Given the description of an element on the screen output the (x, y) to click on. 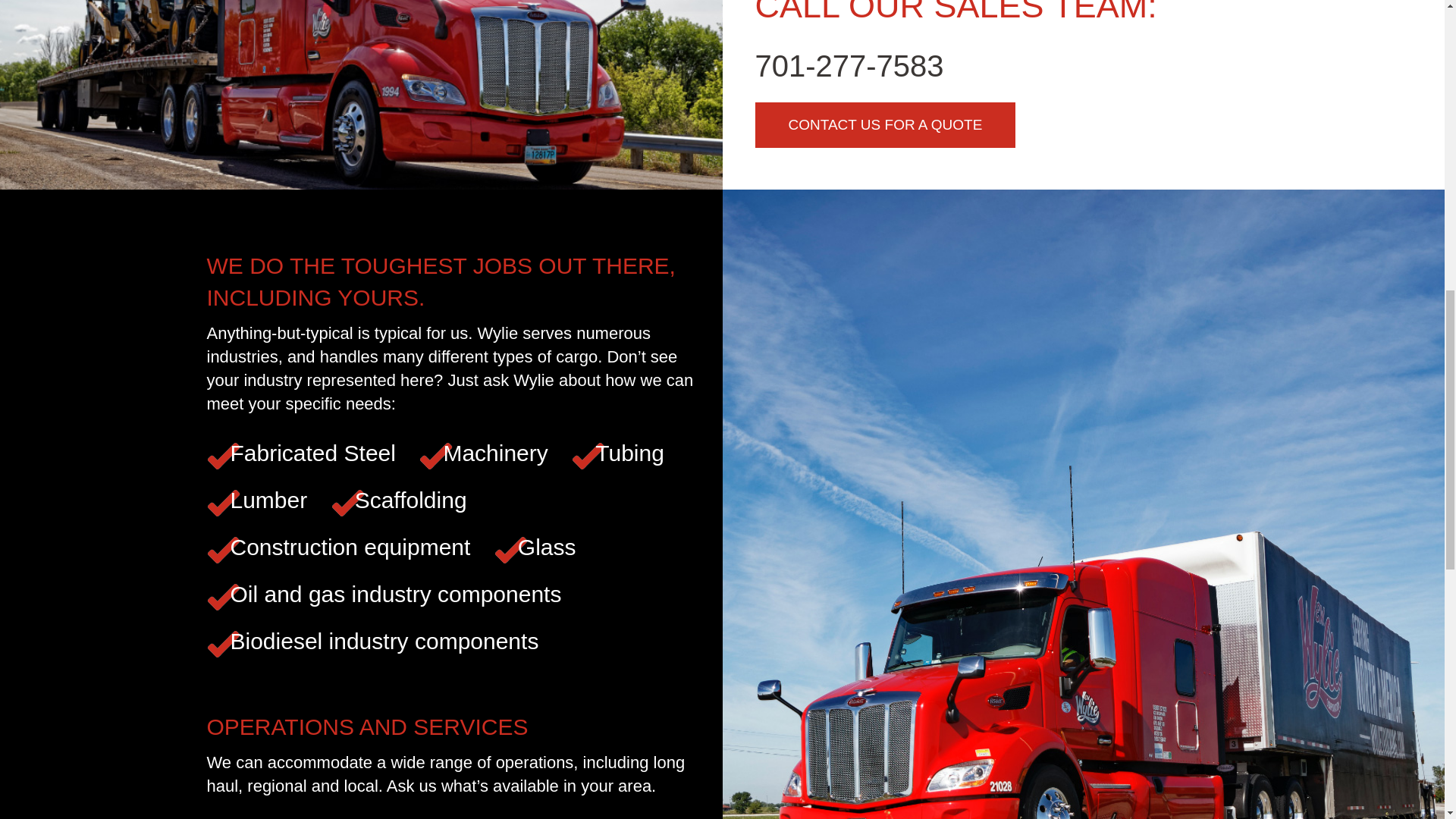
CONTACT US FOR A QUOTE (885, 125)
701-277-7583 (849, 65)
